Given the description of an element on the screen output the (x, y) to click on. 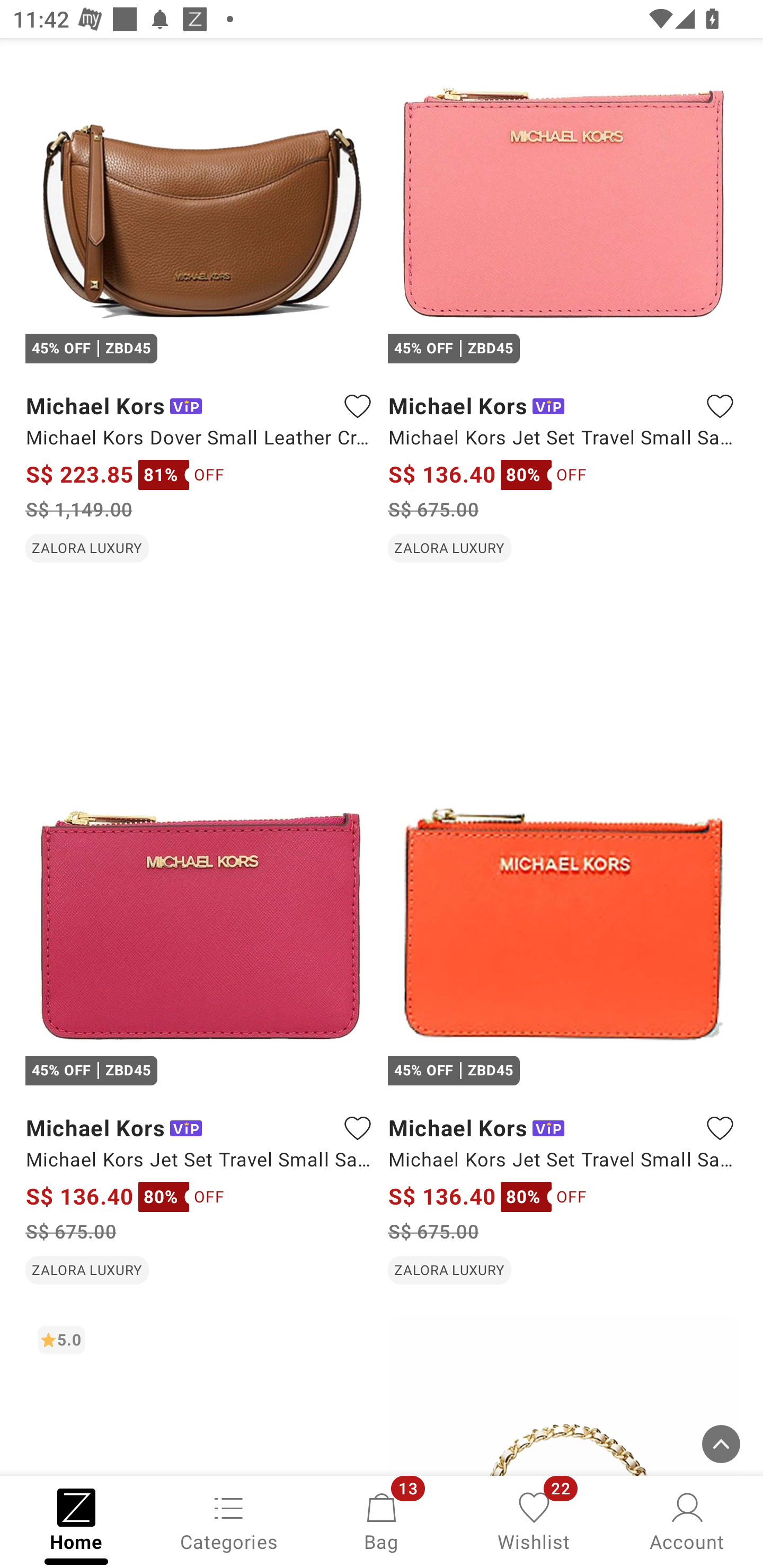
Categories (228, 1519)
Bag, 13 new notifications Bag (381, 1519)
Wishlist, 22 new notifications Wishlist (533, 1519)
Account (686, 1519)
